Given the description of an element on the screen output the (x, y) to click on. 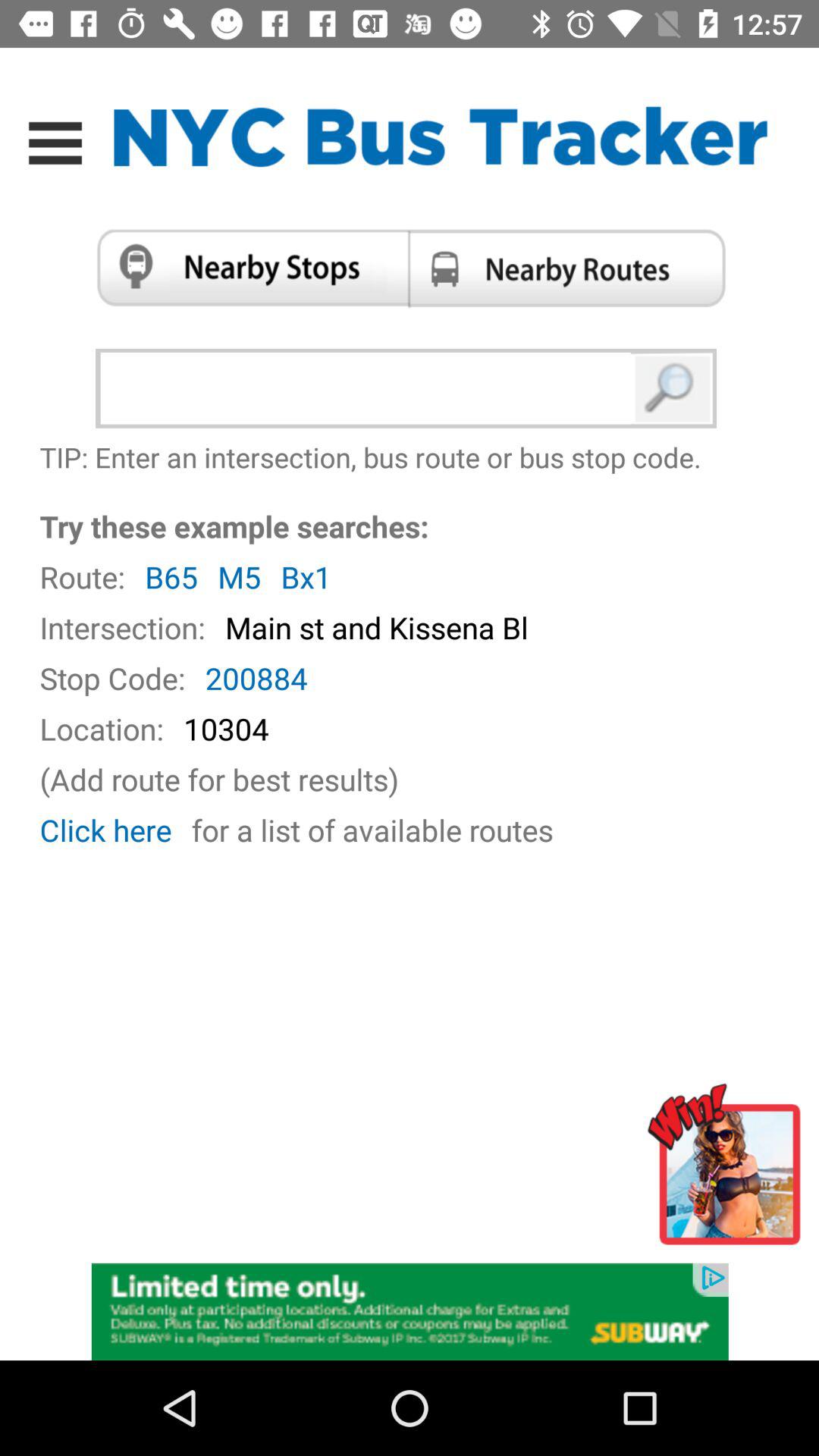
view nearby stops (246, 267)
